Given the description of an element on the screen output the (x, y) to click on. 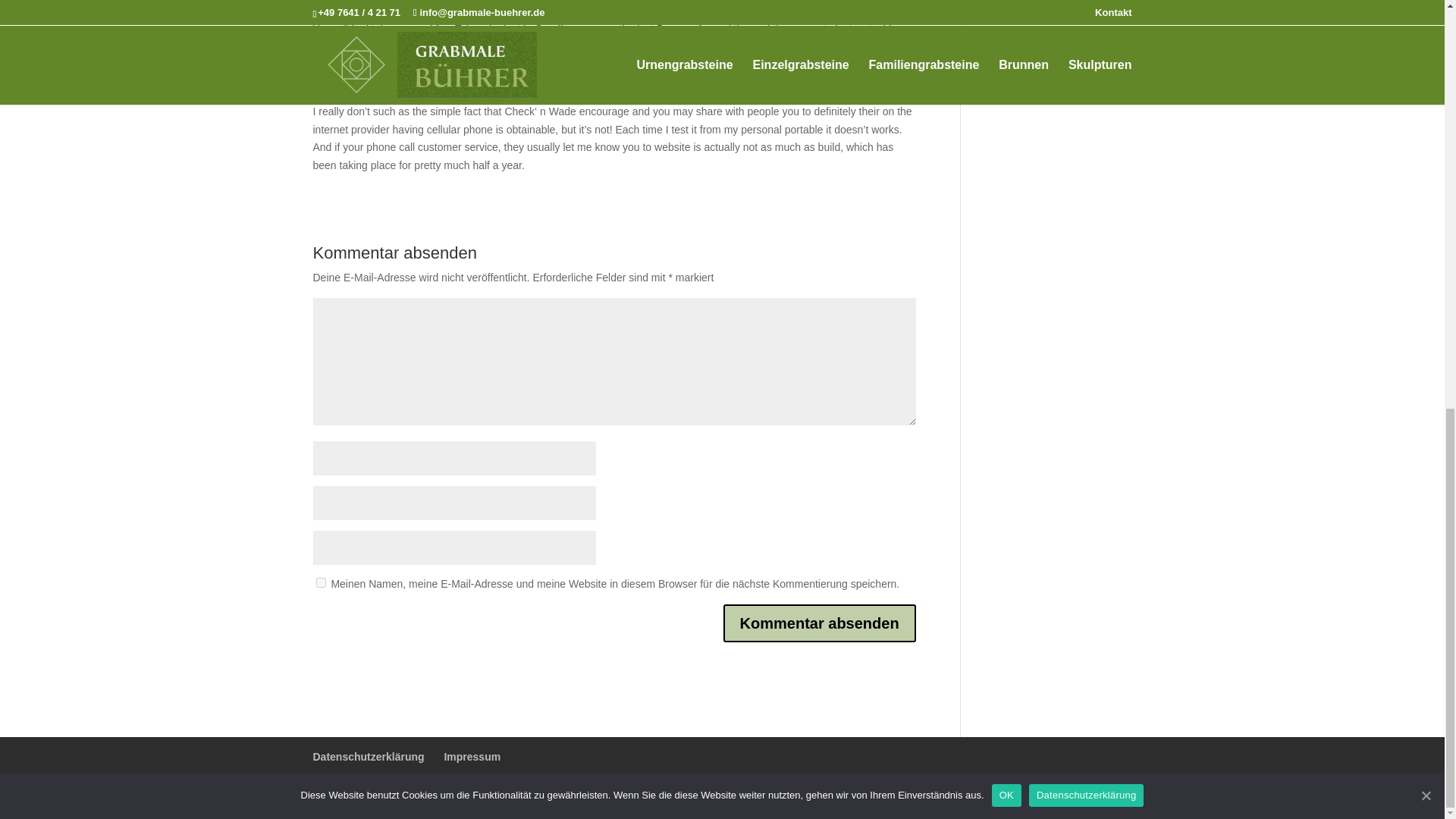
Kommentar absenden (819, 623)
yes (319, 583)
Impressum (472, 756)
Kommentar absenden (819, 623)
Oklahoma quick cash payday loans (610, 73)
